Given the description of an element on the screen output the (x, y) to click on. 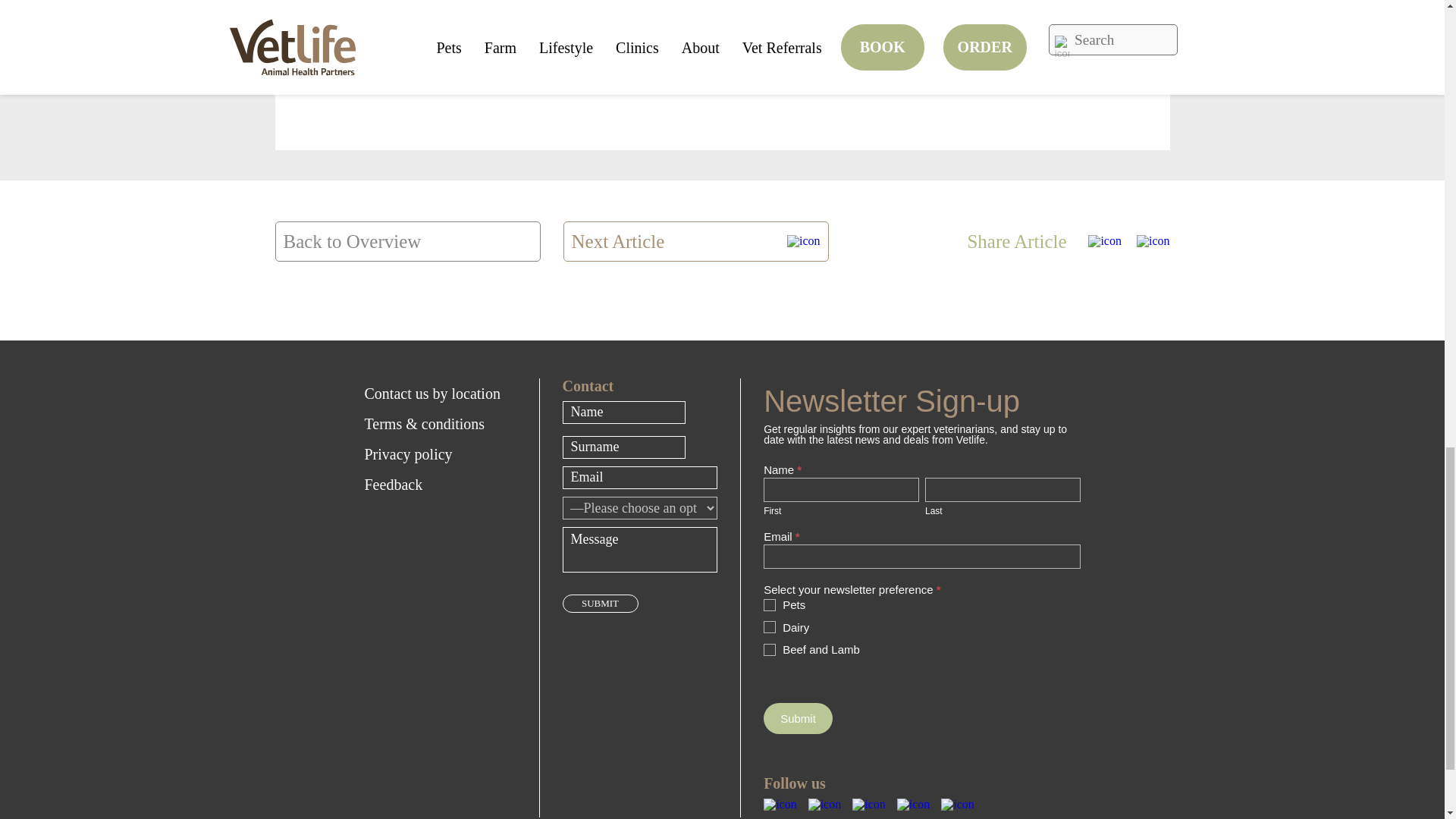
Contact us by location (439, 393)
Back to Overview (407, 241)
Beef and Lamb (769, 649)
Feedback (439, 484)
SUBMIT (600, 603)
Privacy policy (439, 453)
Pets (769, 604)
Next Article (695, 241)
SUBMIT (600, 603)
Dairy (769, 626)
